Given the description of an element on the screen output the (x, y) to click on. 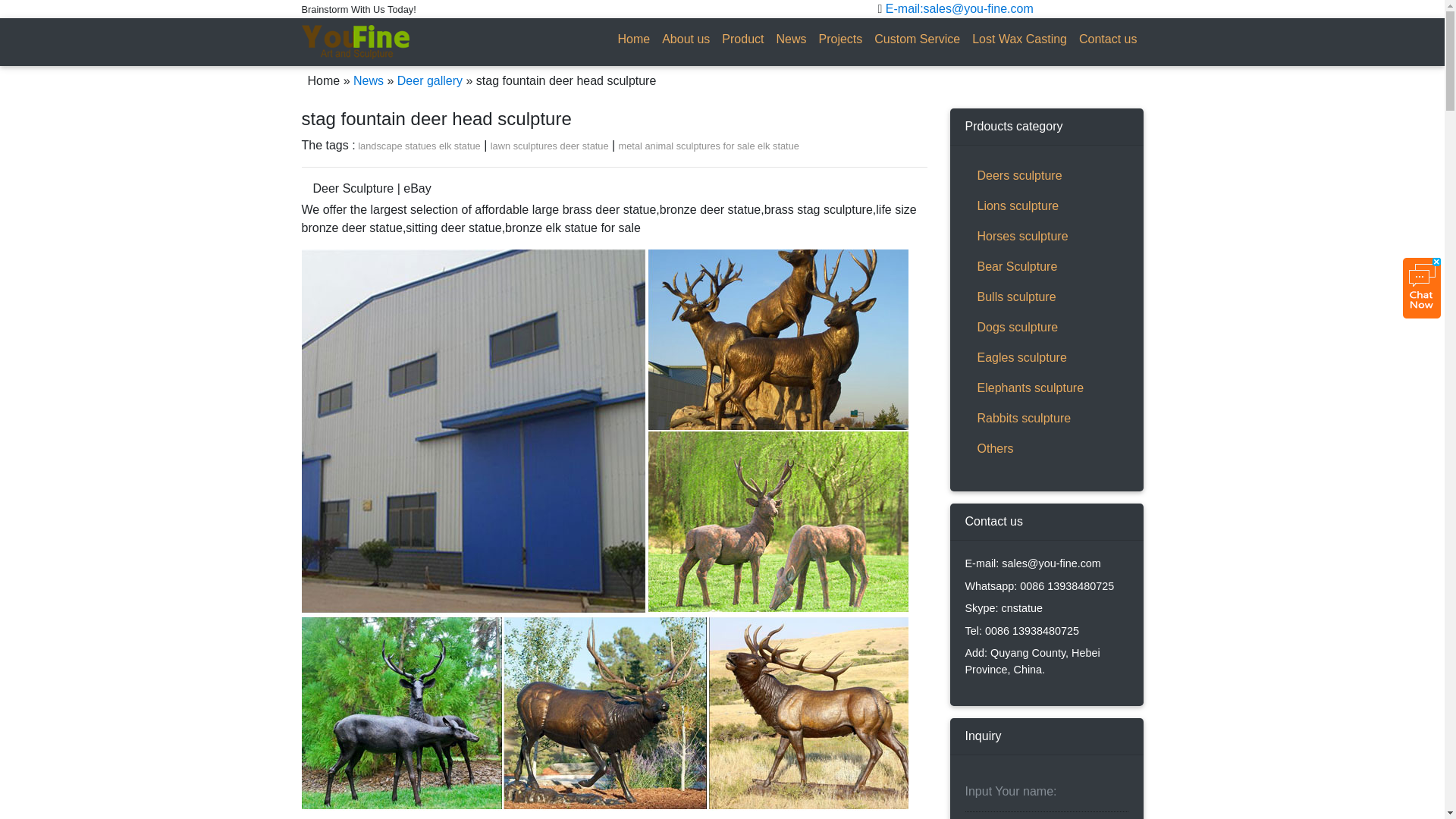
Whatsapp: 0086 13938480725 (1038, 585)
Rabbits sculpture (1044, 418)
Contact us (1107, 39)
News (791, 39)
Eagles sculpture (1044, 358)
Home (633, 39)
Deer gallery (430, 80)
Deers sculpture (1044, 175)
Bear Sculpture (1044, 266)
Dogs sculpture (1044, 327)
